Given the description of an element on the screen output the (x, y) to click on. 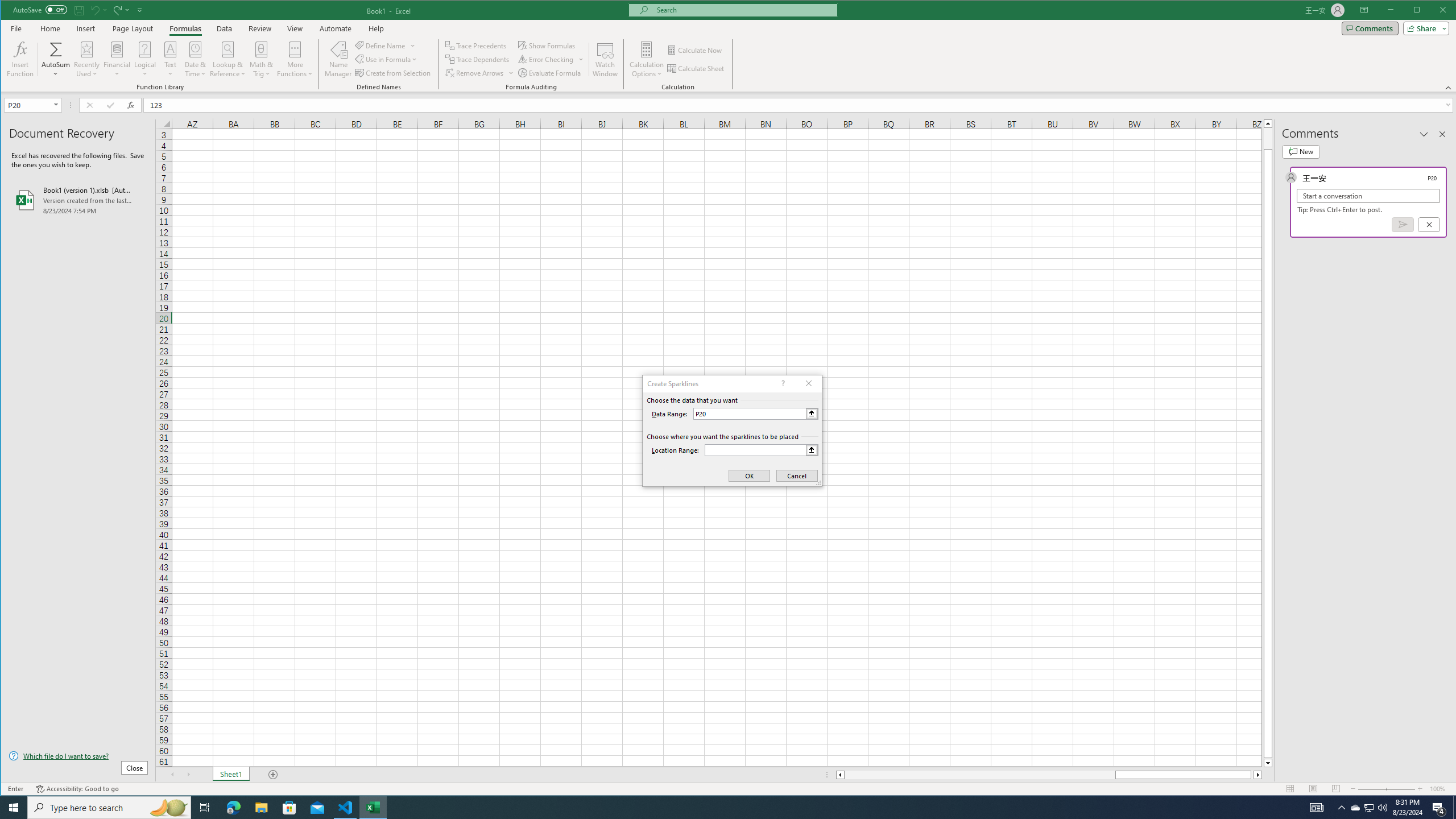
Create from Selection... (393, 72)
More Functions (294, 59)
Insert (85, 28)
Page right (1251, 774)
Ribbon Display Options (1364, 9)
Microsoft search (742, 10)
Evaluate Formula (550, 72)
AutoSave (39, 9)
Class: NetUIScrollBar (1048, 774)
Trace Dependents (478, 59)
